Given the description of an element on the screen output the (x, y) to click on. 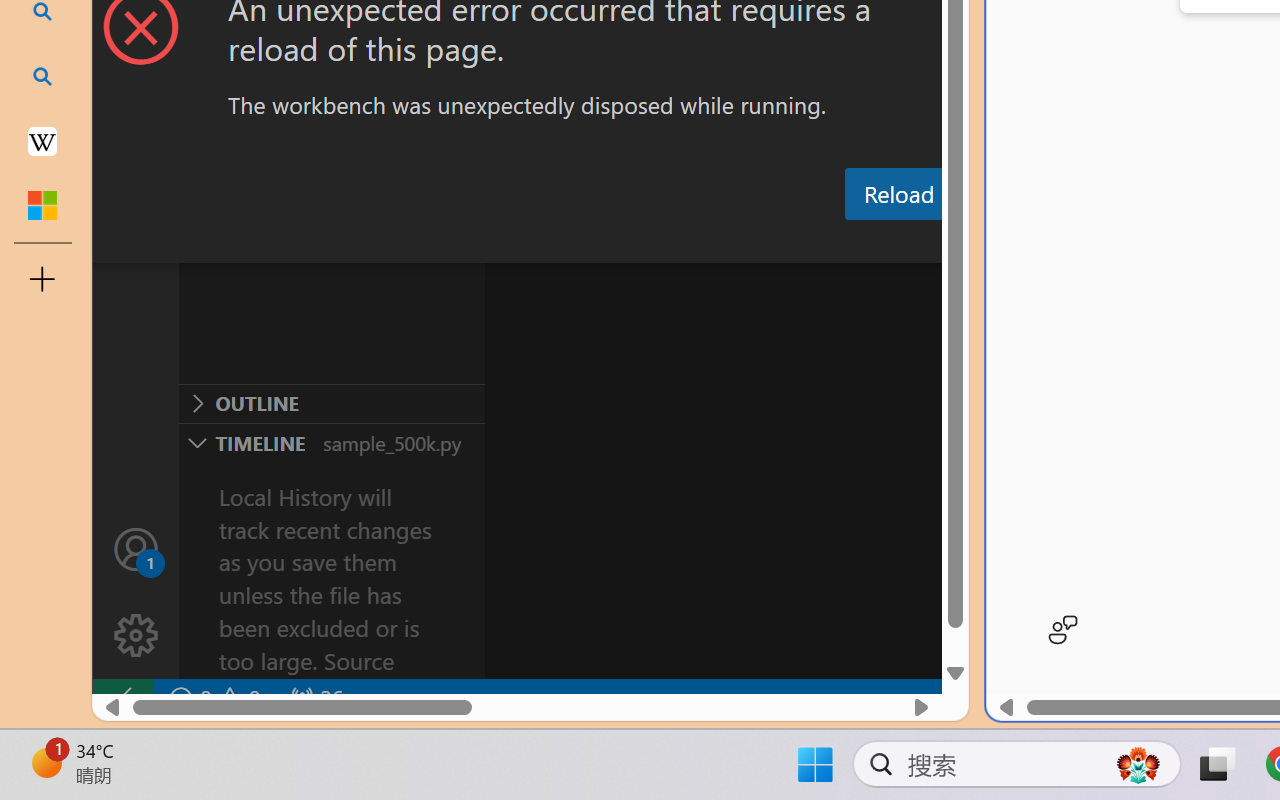
Timeline Section (331, 442)
Problems (Ctrl+Shift+M) (567, 243)
Reload (898, 193)
Outline Section (331, 403)
Manage (135, 591)
Manage (135, 635)
Earth - Wikipedia (42, 140)
Debug Console (Ctrl+Shift+Y) (854, 243)
Accounts - Sign in requested (135, 548)
No Problems (212, 698)
